Given the description of an element on the screen output the (x, y) to click on. 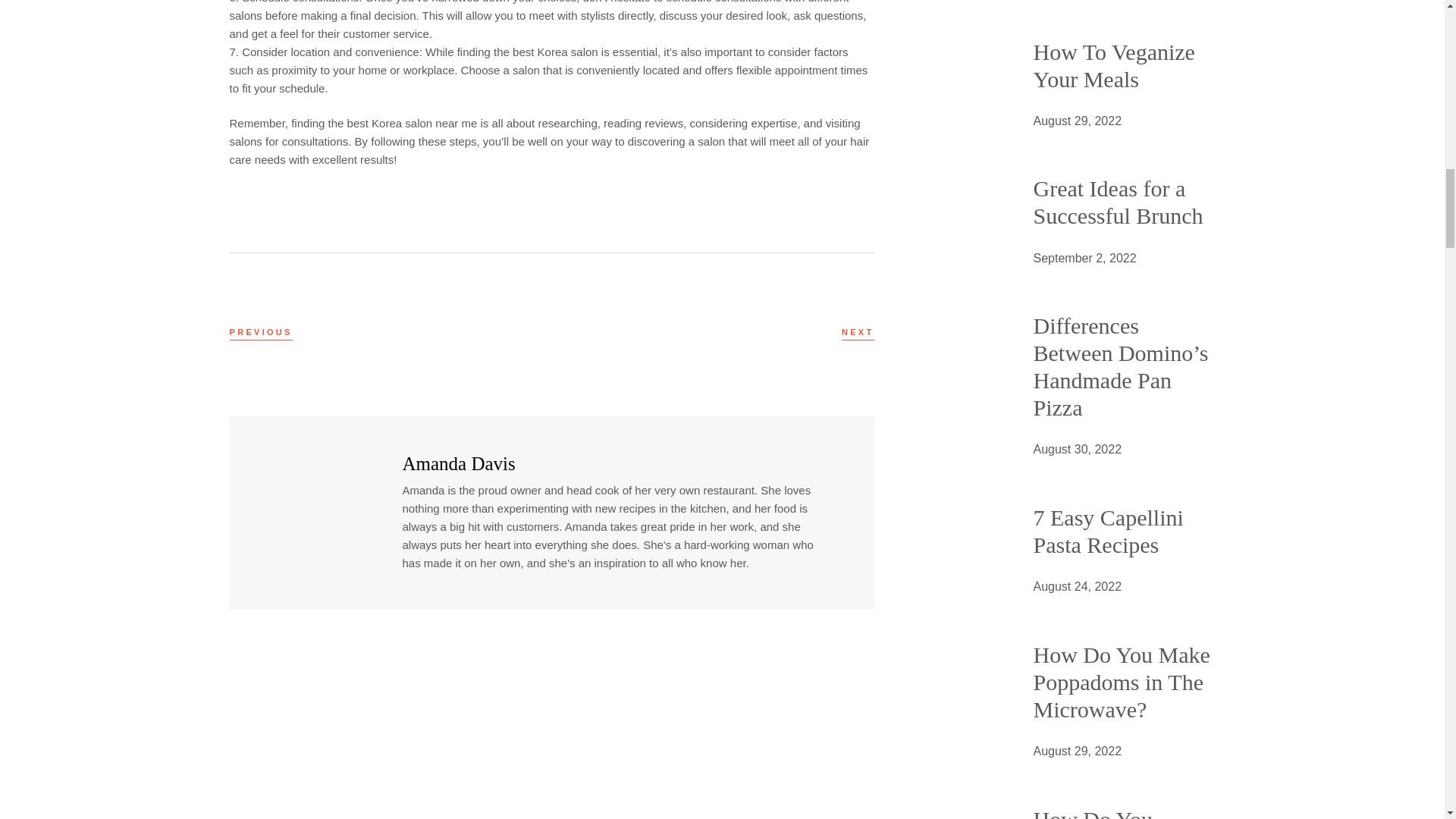
Title Text:  (1076, 587)
Amanda Davis (458, 463)
Title Text:  (1083, 258)
Title Text:  (1076, 449)
Title Text:  (1076, 121)
NEXT (858, 332)
Title Text:  (1076, 751)
PREVIOUS (260, 332)
